Given the description of an element on the screen output the (x, y) to click on. 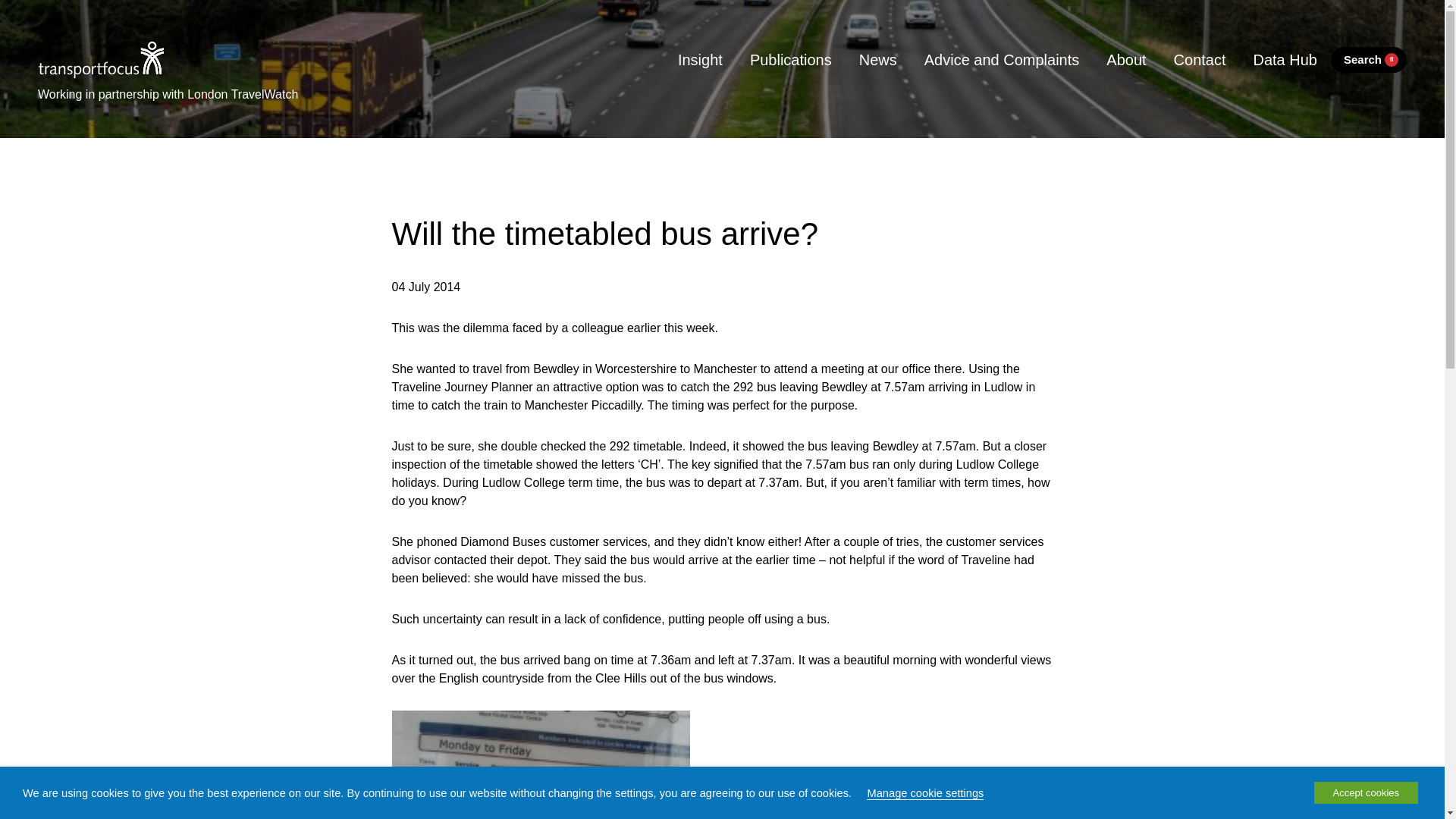
Data Hub (1284, 59)
Working in partnership with London TravelWatch (167, 91)
Insight (699, 59)
Publications (790, 59)
Search (1368, 59)
Contact (1200, 59)
News (878, 59)
About (1125, 59)
Advice and Complaints (1002, 59)
